Given the description of an element on the screen output the (x, y) to click on. 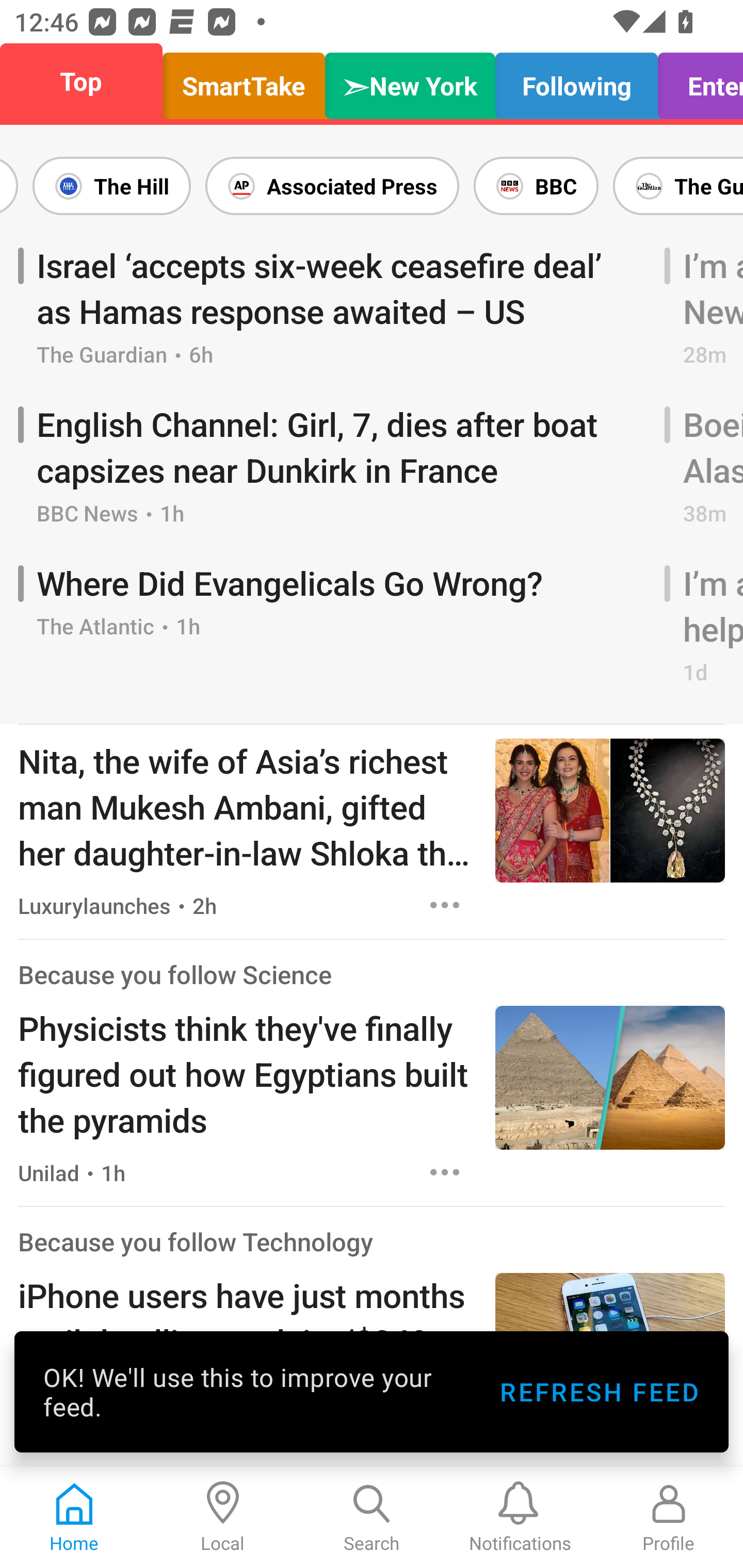
Top (86, 81)
SmartTake (243, 81)
➣New York (409, 81)
Following (576, 81)
The Hill (111, 185)
Associated Press (332, 185)
BBC (535, 185)
Where Did Evangelicals Go Wrong? The Atlantic ・ 1h (334, 626)
Options (444, 904)
Because you follow Science (174, 974)
Options (444, 1172)
Because you follow Technology (195, 1241)
REFRESH FEED (598, 1391)
Local (222, 1517)
Search (371, 1517)
Notifications (519, 1517)
Profile (668, 1517)
